Given the description of an element on the screen output the (x, y) to click on. 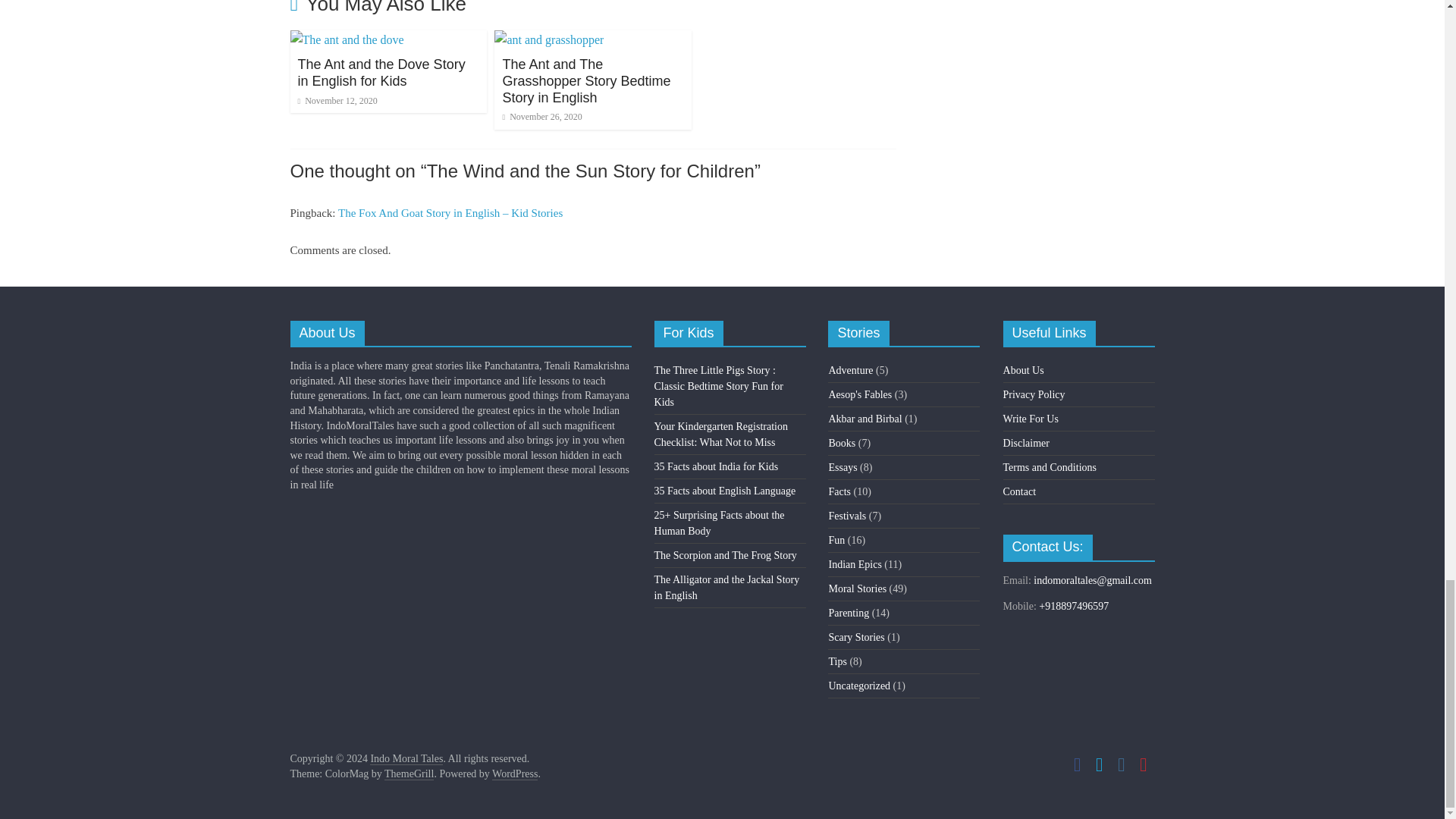
The Ant and the Dove Story in English for Kids (380, 72)
The Ant and The Grasshopper Story Bedtime Story in English (585, 80)
The Ant and the Dove Story in English for Kids (380, 72)
November 12, 2020 (337, 100)
The Ant and the Dove Story in English for Kids (346, 39)
The Ant and The Grasshopper Story Bedtime Story in English (549, 39)
7:28 pm (541, 116)
The Ant and The Grasshopper Story Bedtime Story in English (585, 80)
November 26, 2020 (541, 116)
4:58 pm (337, 100)
